Given the description of an element on the screen output the (x, y) to click on. 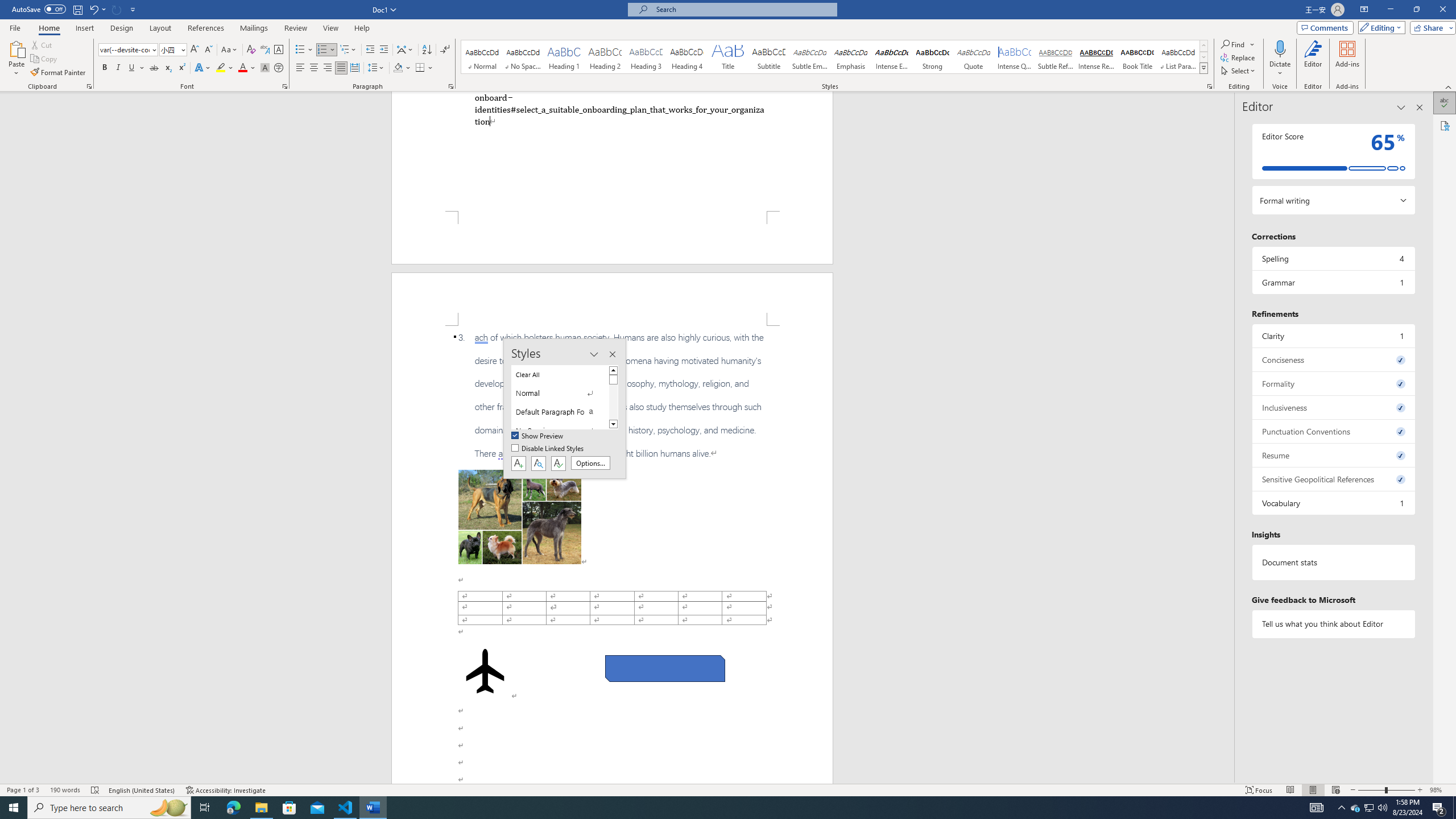
Comments (1325, 27)
Show/Hide Editing Marks (444, 49)
Print Layout (1312, 790)
Home (48, 28)
Clear All (559, 374)
Options... (590, 463)
Subtitle (768, 56)
Decrease Indent (370, 49)
Share (1430, 27)
Strong (932, 56)
Class: MsoCommandBar (728, 789)
Intense Reference (1095, 56)
Justify (340, 67)
Focus  (1258, 790)
